Given the description of an element on the screen output the (x, y) to click on. 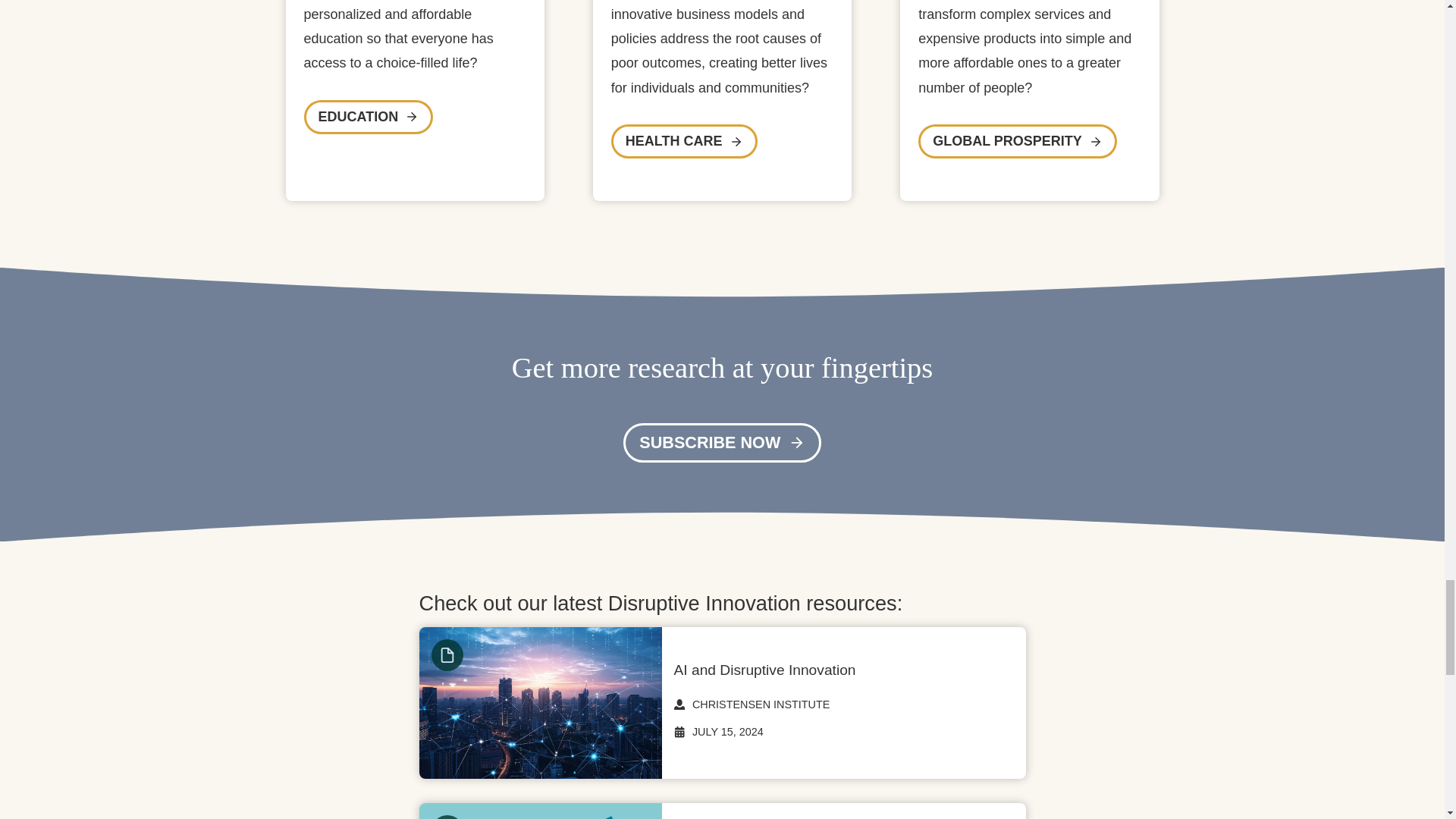
EDUCATION (367, 116)
HEALTH CARE (684, 141)
